Given the description of an element on the screen output the (x, y) to click on. 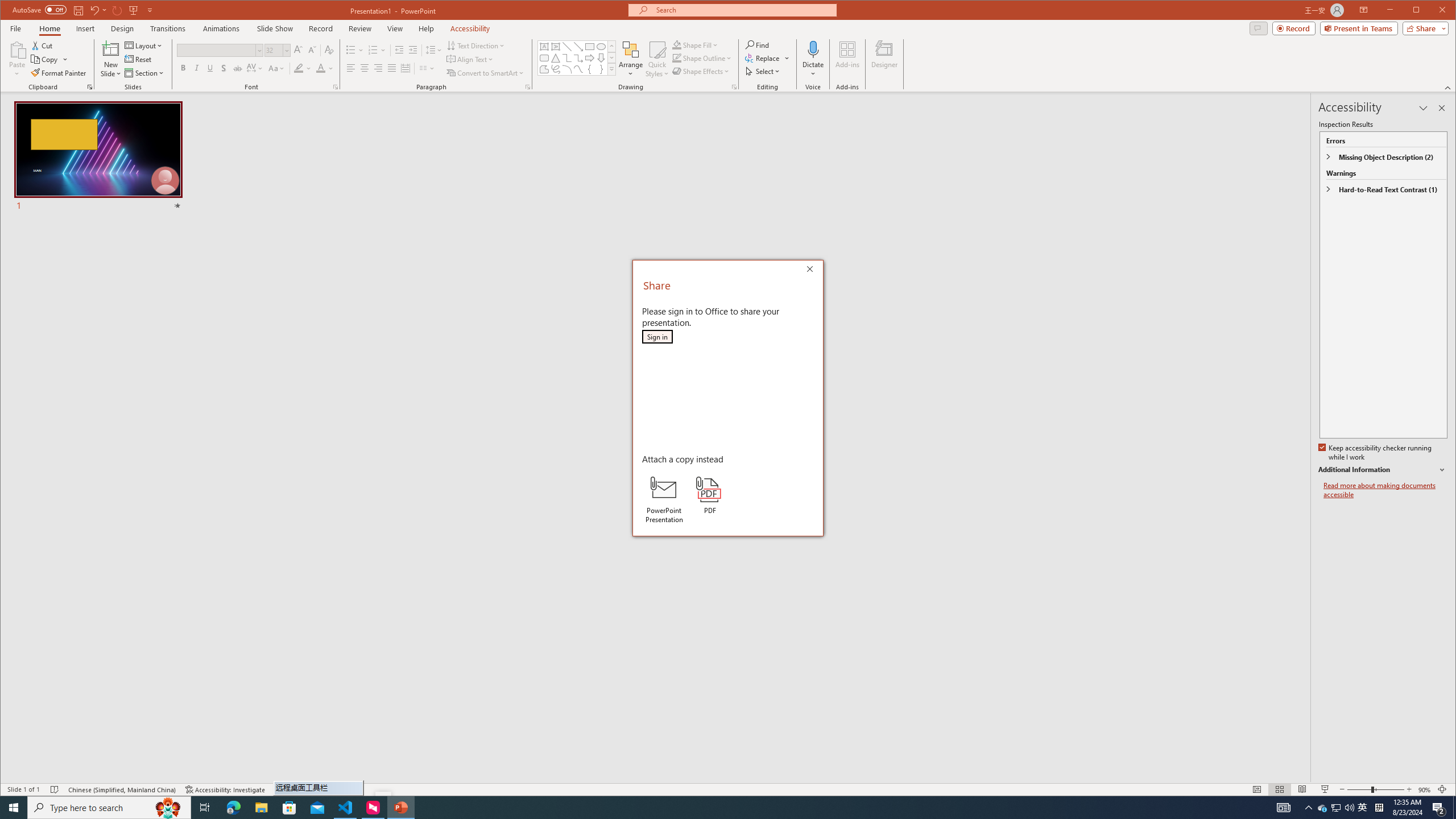
Change Case (276, 68)
Rectangle: Rounded Corners (544, 57)
Increase Font Size (297, 49)
